Given the description of an element on the screen output the (x, y) to click on. 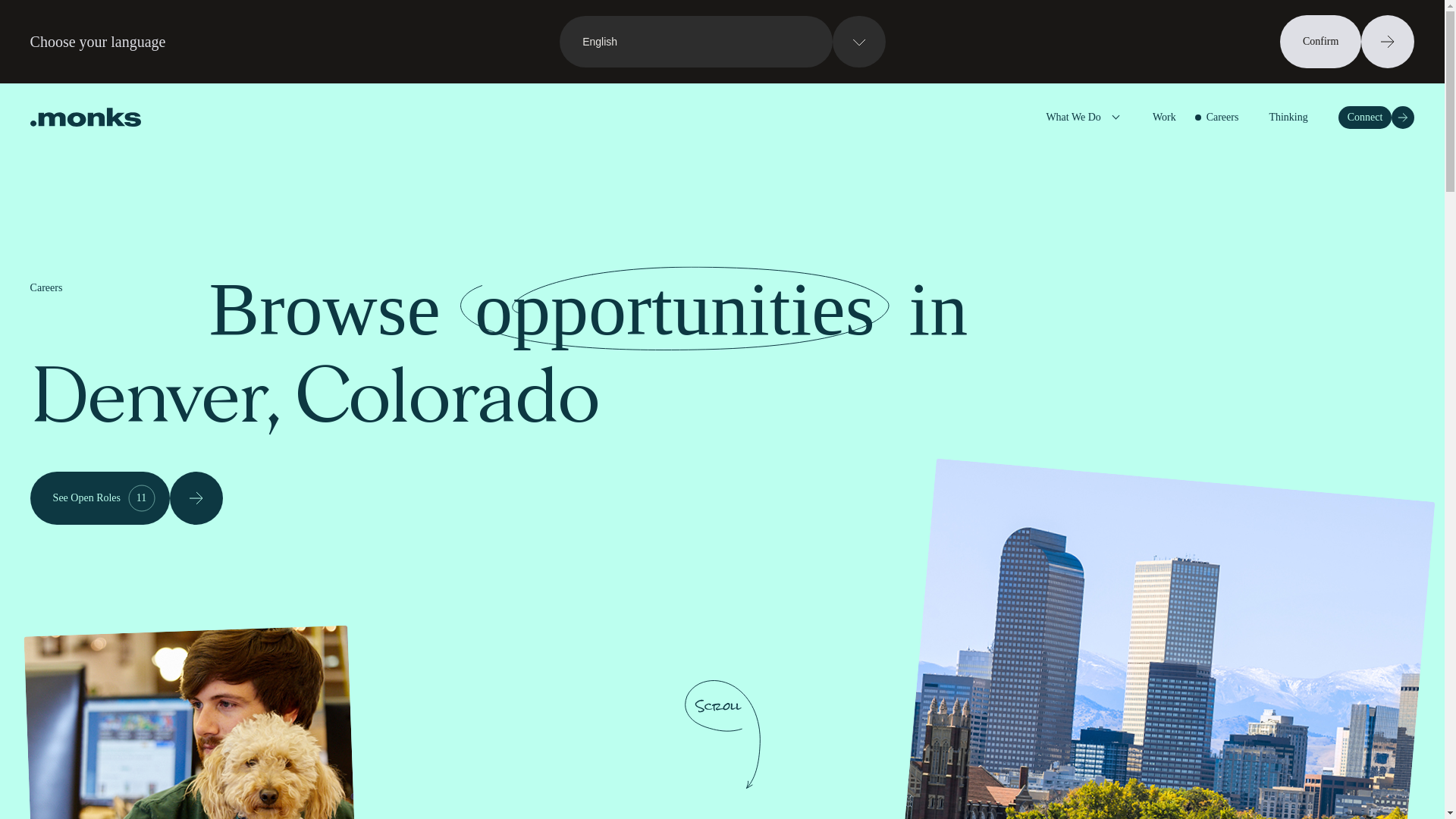
es (717, 124)
Connect (1376, 117)
English (722, 41)
Careers (1223, 117)
Thinking (1287, 117)
Confirm (1346, 41)
pt (717, 155)
Work (126, 497)
What We Do (1164, 117)
